Given the description of an element on the screen output the (x, y) to click on. 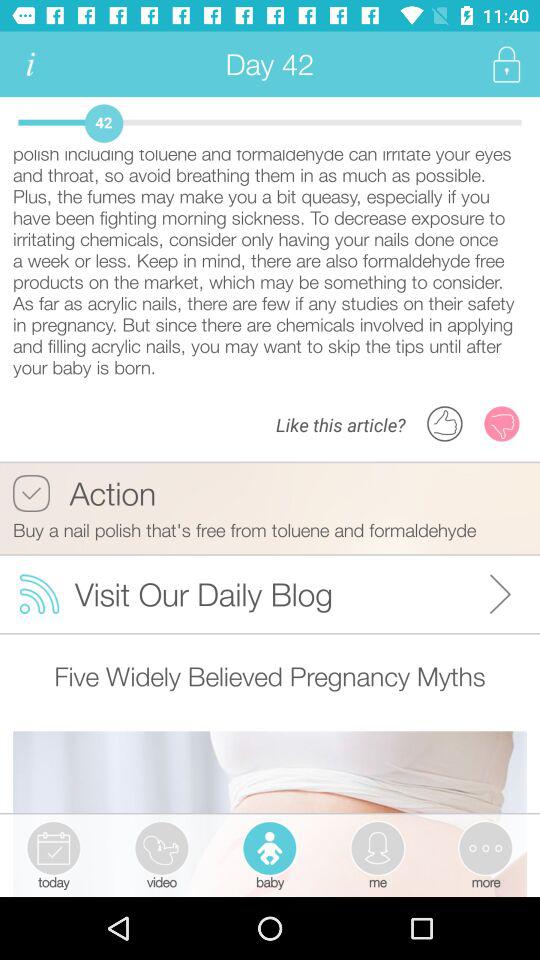
press thanks to your icon (269, 264)
